Given the description of an element on the screen output the (x, y) to click on. 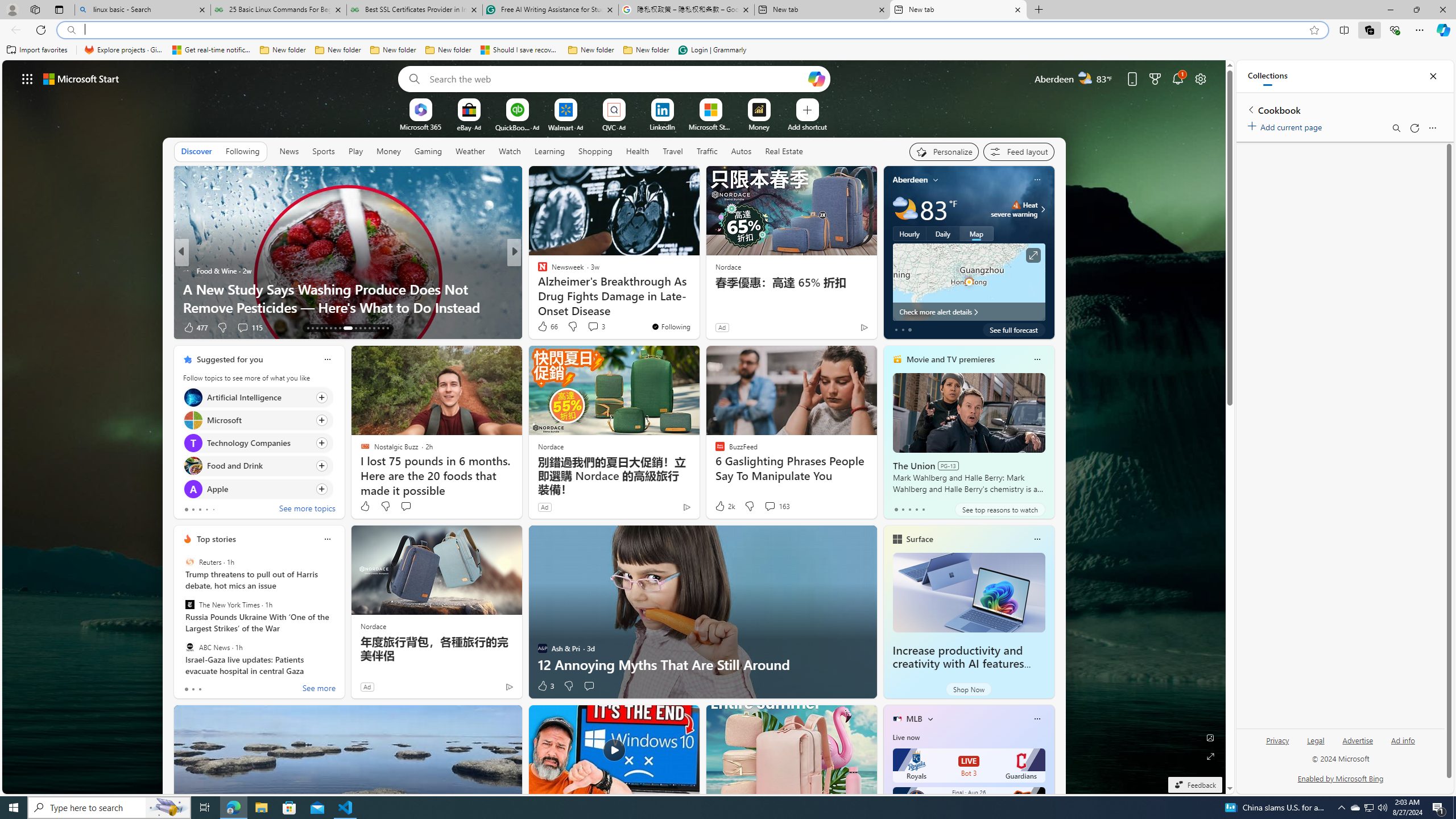
How to mirror iPhone to PC (697, 307)
View comments 26 Comment (247, 327)
AutomationID: tab-19 (335, 328)
Click to follow topic Apple (257, 488)
View comments 163 Comment (770, 505)
Ad info (1402, 745)
Gaming (428, 151)
Watch (509, 151)
Surface (919, 538)
You're following The Weather Channel (839, 329)
View comments 16 Comment (592, 327)
TODAY (187, 270)
You're following Newsweek (670, 326)
AutomationID: tab-17 (326, 328)
